Given the description of an element on the screen output the (x, y) to click on. 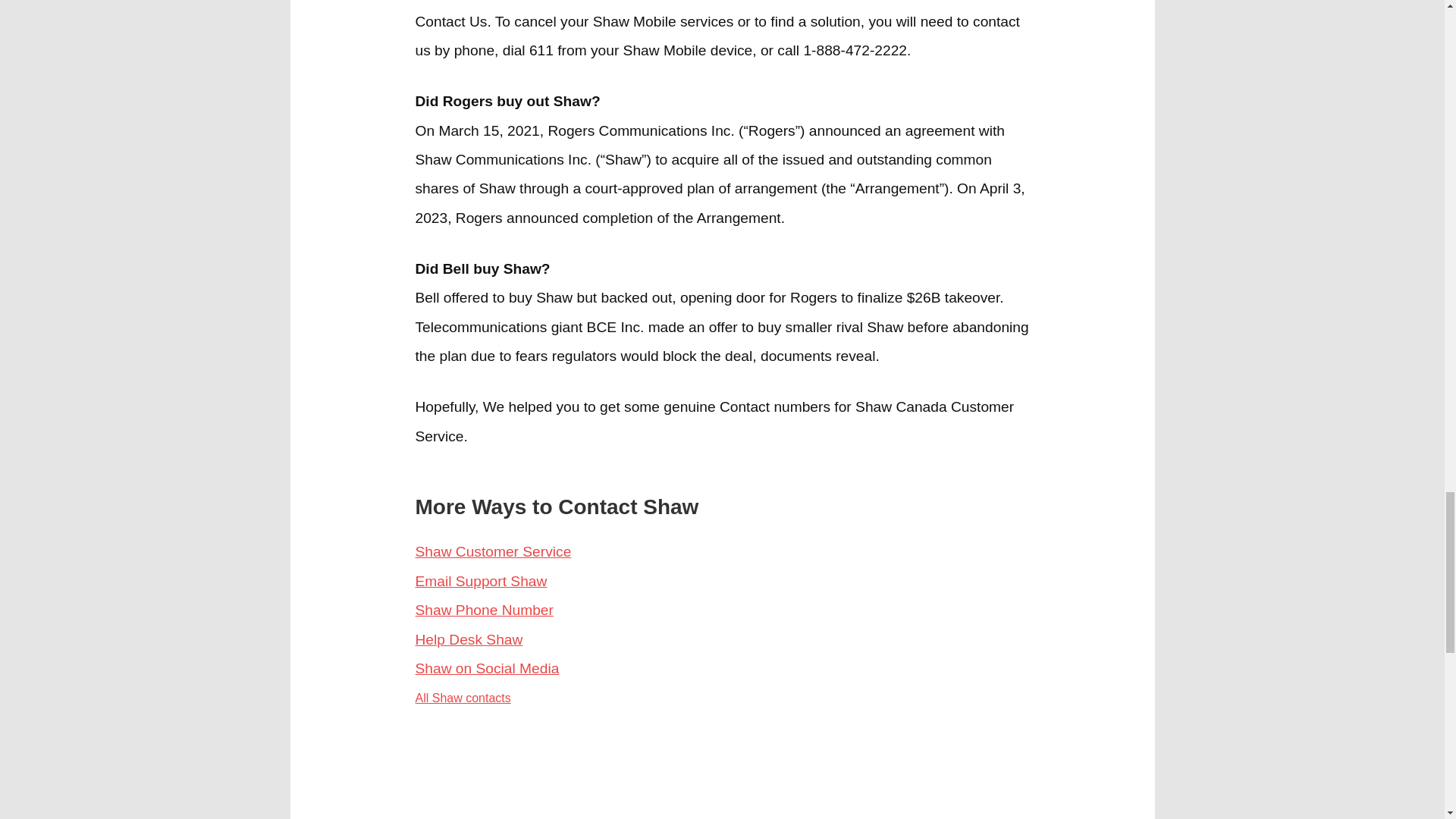
All Shaw contacts (462, 697)
Shaw Phone Number (483, 609)
Shaw on Social Media (486, 668)
Email Support Shaw (480, 580)
Advertisement (490, 769)
Shaw Customer Service (493, 551)
Help Desk Shaw (468, 639)
